Given the description of an element on the screen output the (x, y) to click on. 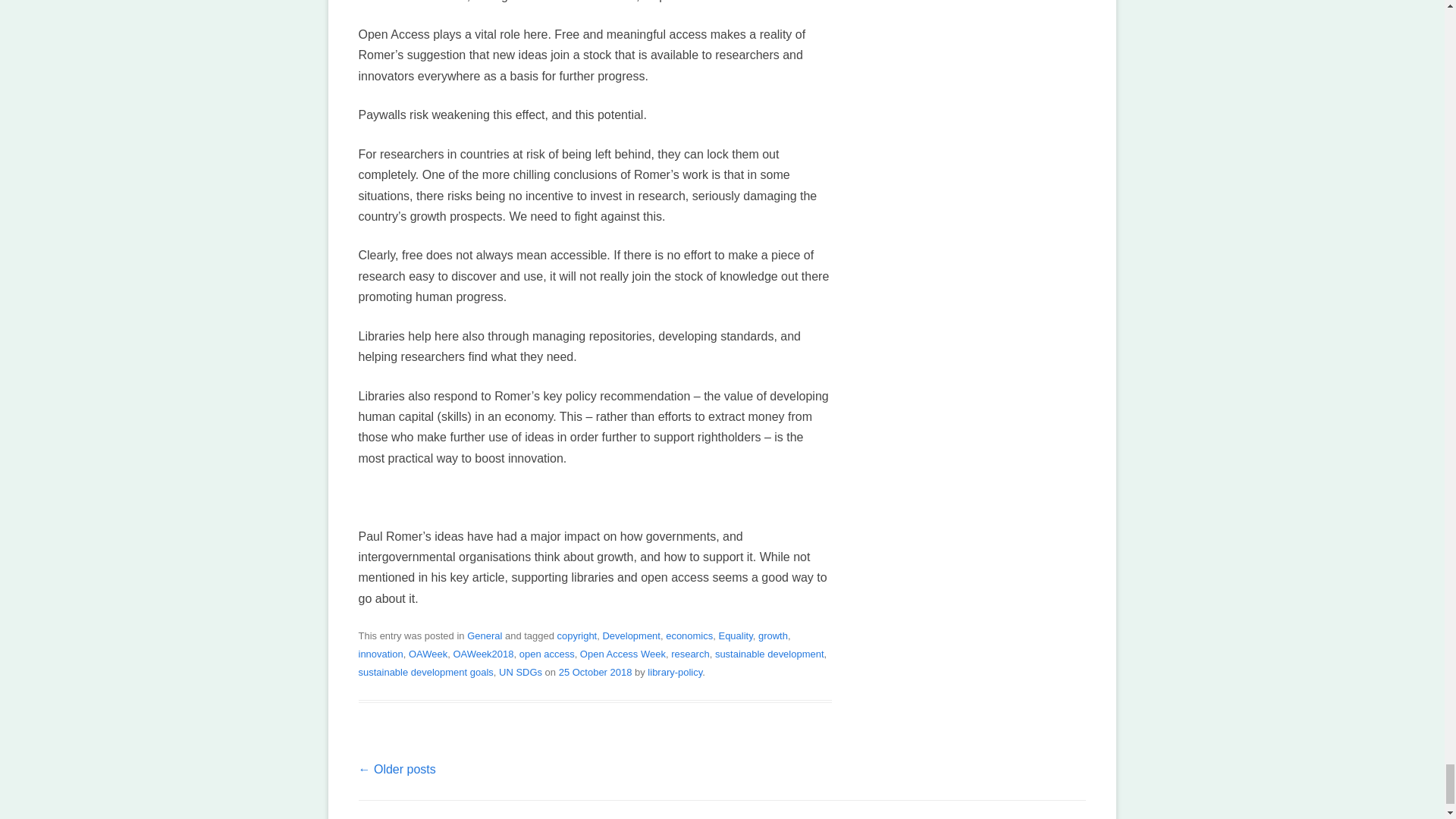
14:23 (595, 672)
View all posts by library-policy (674, 672)
